Given the description of an element on the screen output the (x, y) to click on. 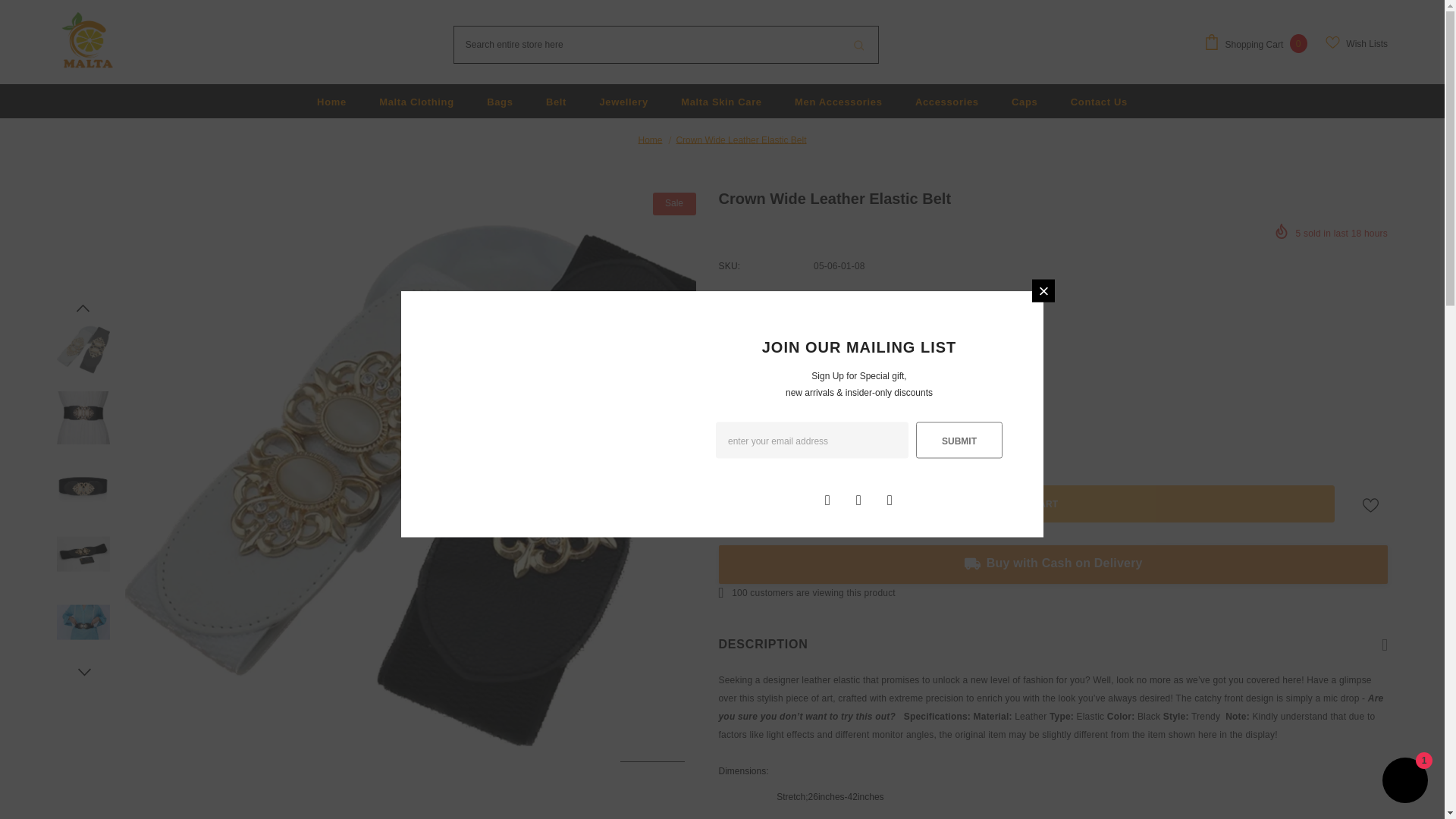
Shopping Cart 0 (1259, 43)
Add to cart (1027, 503)
Malta Clothing (416, 100)
Home (331, 100)
Caps (1023, 100)
Belt (556, 100)
Men Accessories (838, 100)
Accessories (946, 100)
Malta Skin Care (721, 100)
Jewellery (622, 100)
Submit (959, 439)
Contact Us (1098, 100)
1 (772, 428)
Bags (499, 100)
Logo (86, 42)
